Given the description of an element on the screen output the (x, y) to click on. 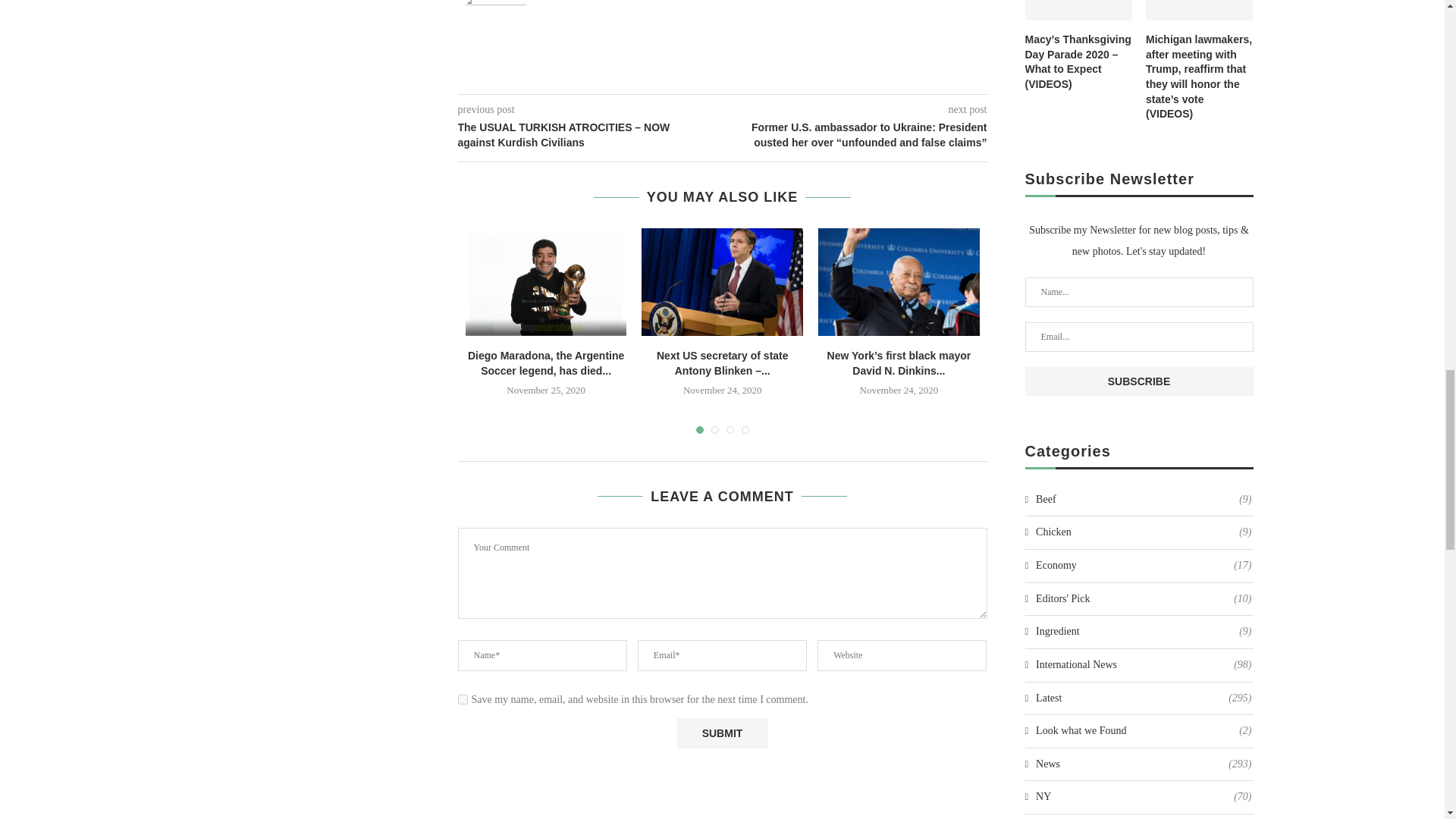
Subscribe (1139, 380)
yes (462, 699)
Posts by alex (563, 1)
Submit (722, 733)
